Given the description of an element on the screen output the (x, y) to click on. 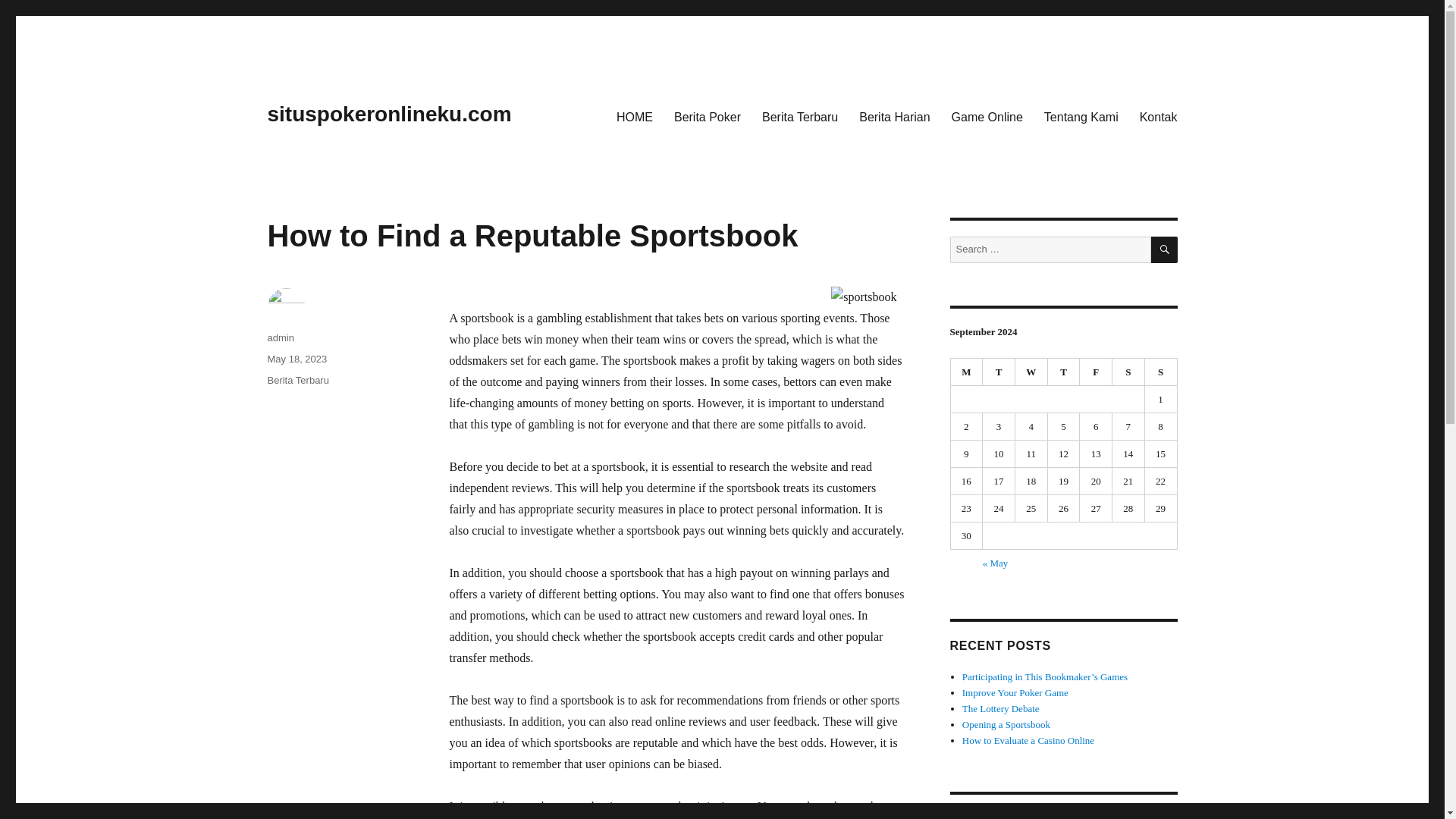
Berita Terbaru (799, 116)
Monday (967, 371)
admin (280, 337)
Game Online (986, 116)
Wednesday (1031, 371)
Berita Terbaru (297, 379)
SEARCH (1164, 249)
Tuesday (998, 371)
How to Evaluate a Casino Online (1028, 740)
The Lottery Debate (1000, 708)
